Given the description of an element on the screen output the (x, y) to click on. 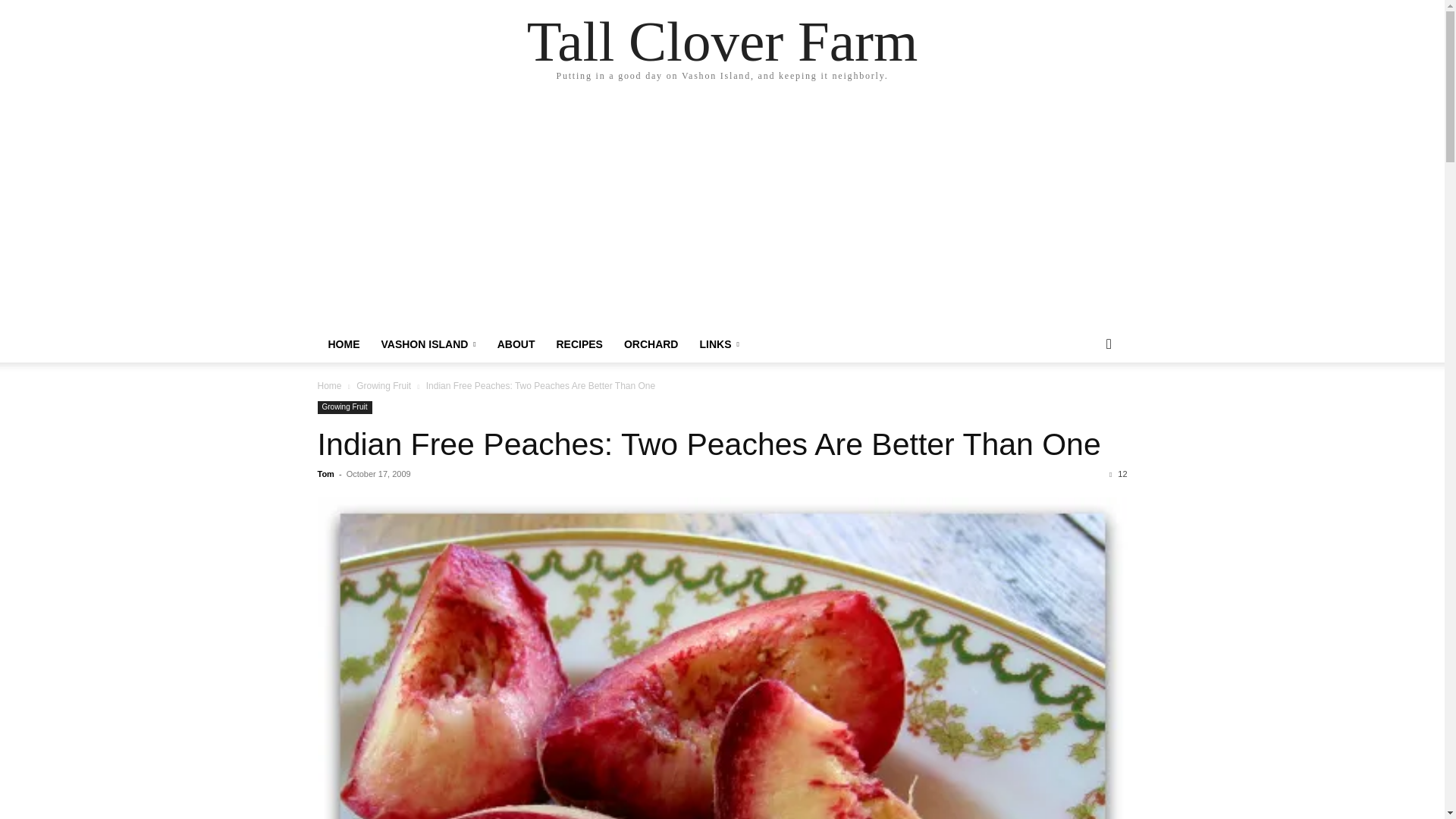
LINKS (718, 344)
Tom (325, 473)
Growing Fruit (344, 407)
About (516, 344)
Home (328, 385)
Vashon Island (427, 344)
Tall Clover Farm (343, 344)
RECIPES (578, 344)
ABOUT (516, 344)
12 (1117, 473)
ORCHARD (650, 344)
VASHON ISLAND (427, 344)
Indian Free Peaches: Two Peaches Are Better Than One (708, 443)
